Given the description of an element on the screen output the (x, y) to click on. 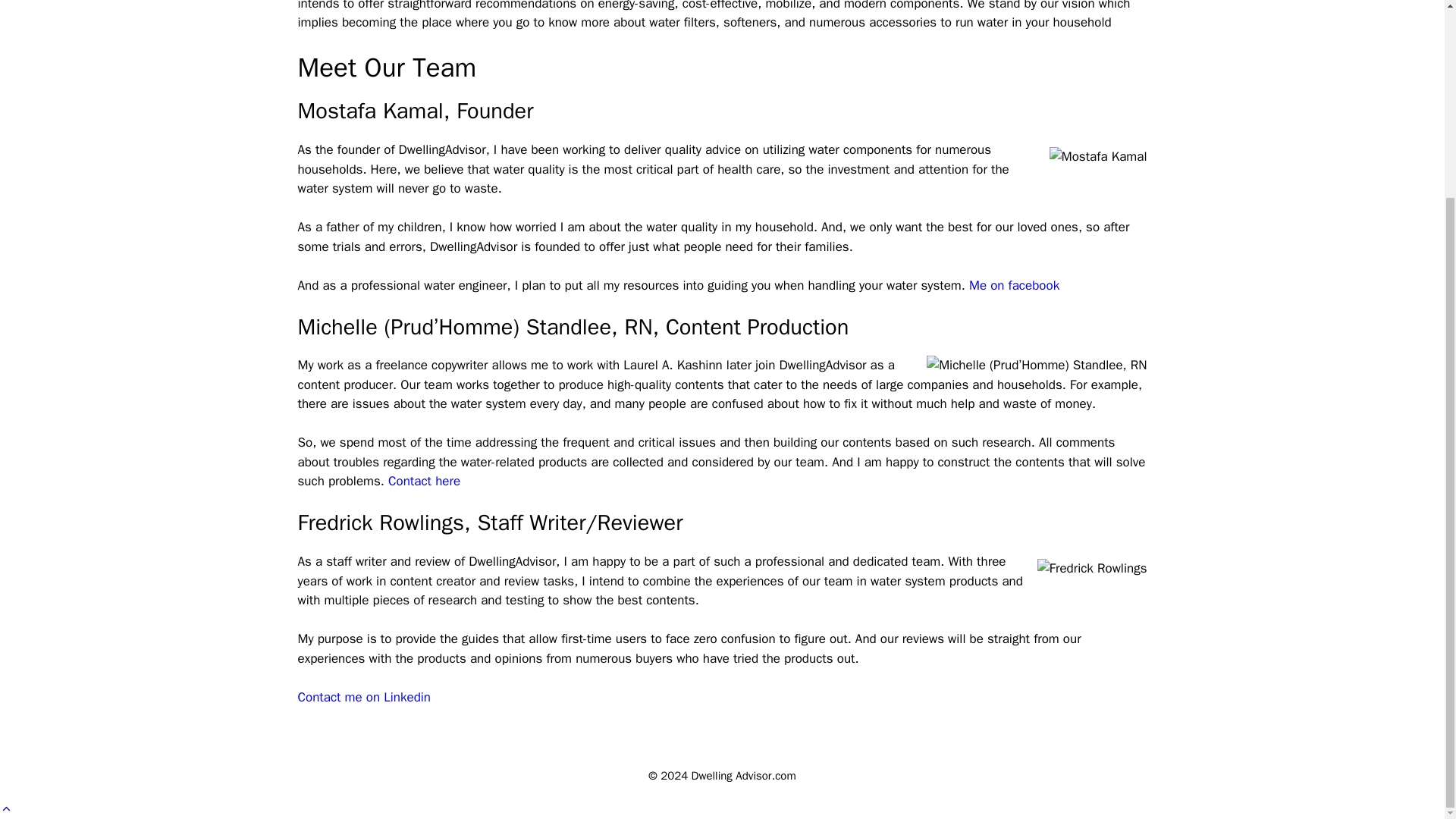
Contact here (424, 480)
Contact me on Linkedin (363, 697)
Me on facebook (1014, 285)
